Given the description of an element on the screen output the (x, y) to click on. 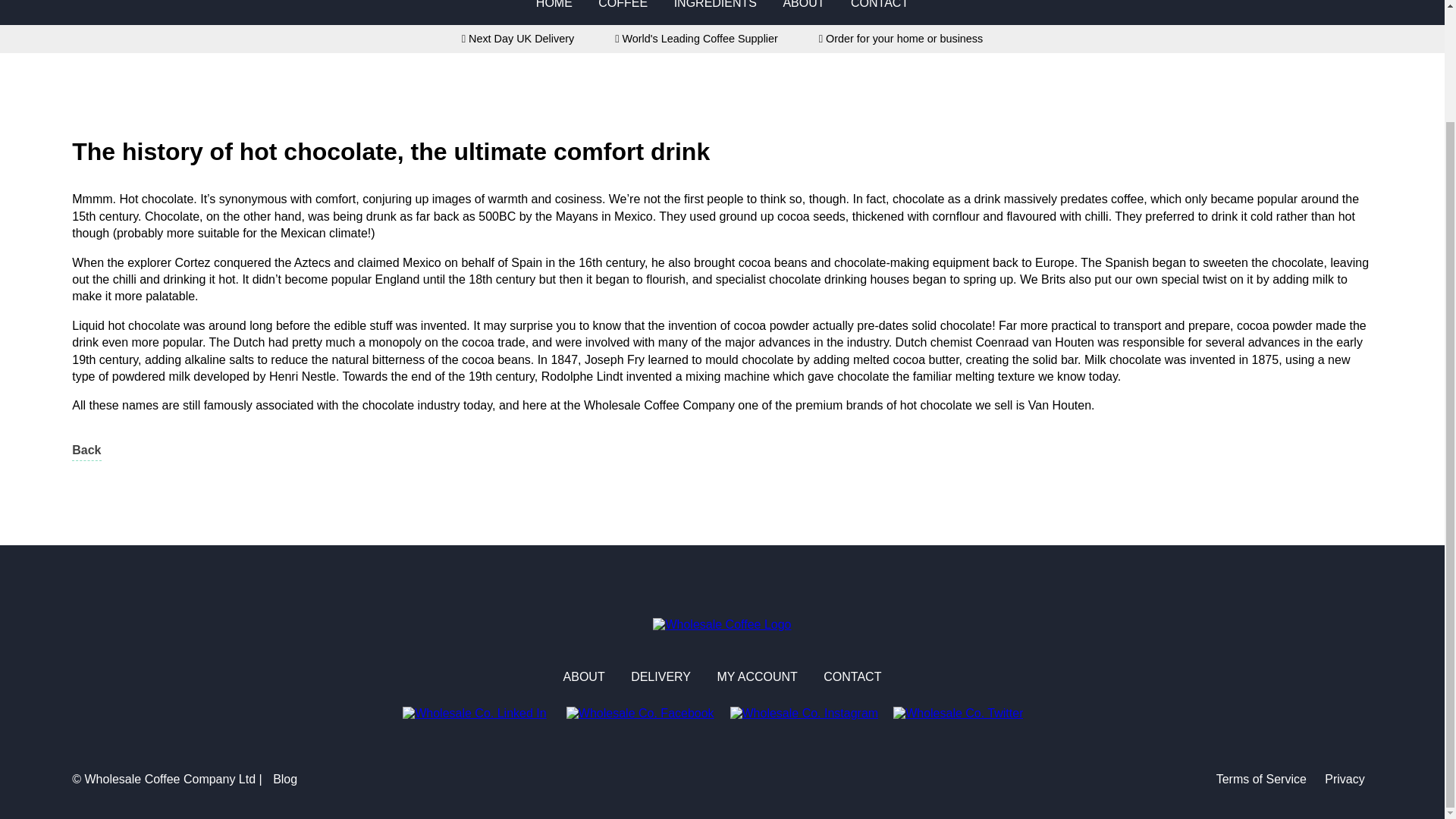
INGREDIENTS (715, 4)
CONTACT (880, 4)
MY ACCOUNT (756, 676)
HOME (553, 4)
ABOUT (584, 676)
Back (85, 451)
Blog (284, 779)
DELIVERY (660, 676)
CONTACT (852, 676)
COFFEE (622, 4)
